Given the description of an element on the screen output the (x, y) to click on. 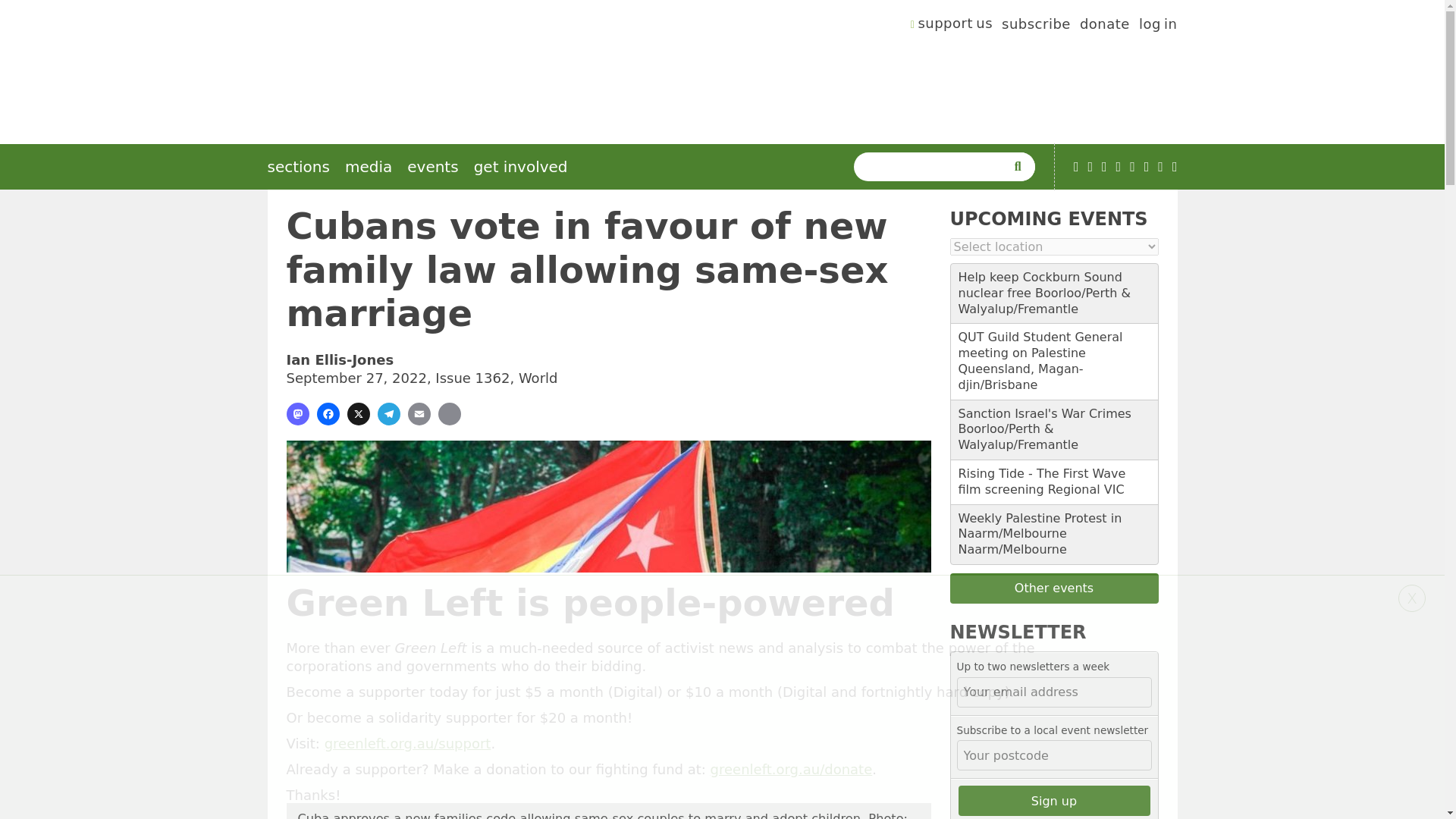
log in (1157, 26)
subscribe (1035, 26)
Share on Telegram (388, 413)
Share on Facebook (328, 413)
Sign up (1054, 800)
donate (1104, 26)
Share on X (358, 413)
Print (449, 413)
support us (951, 26)
Enter the terms you wish to search for. (932, 166)
